Given the description of an element on the screen output the (x, y) to click on. 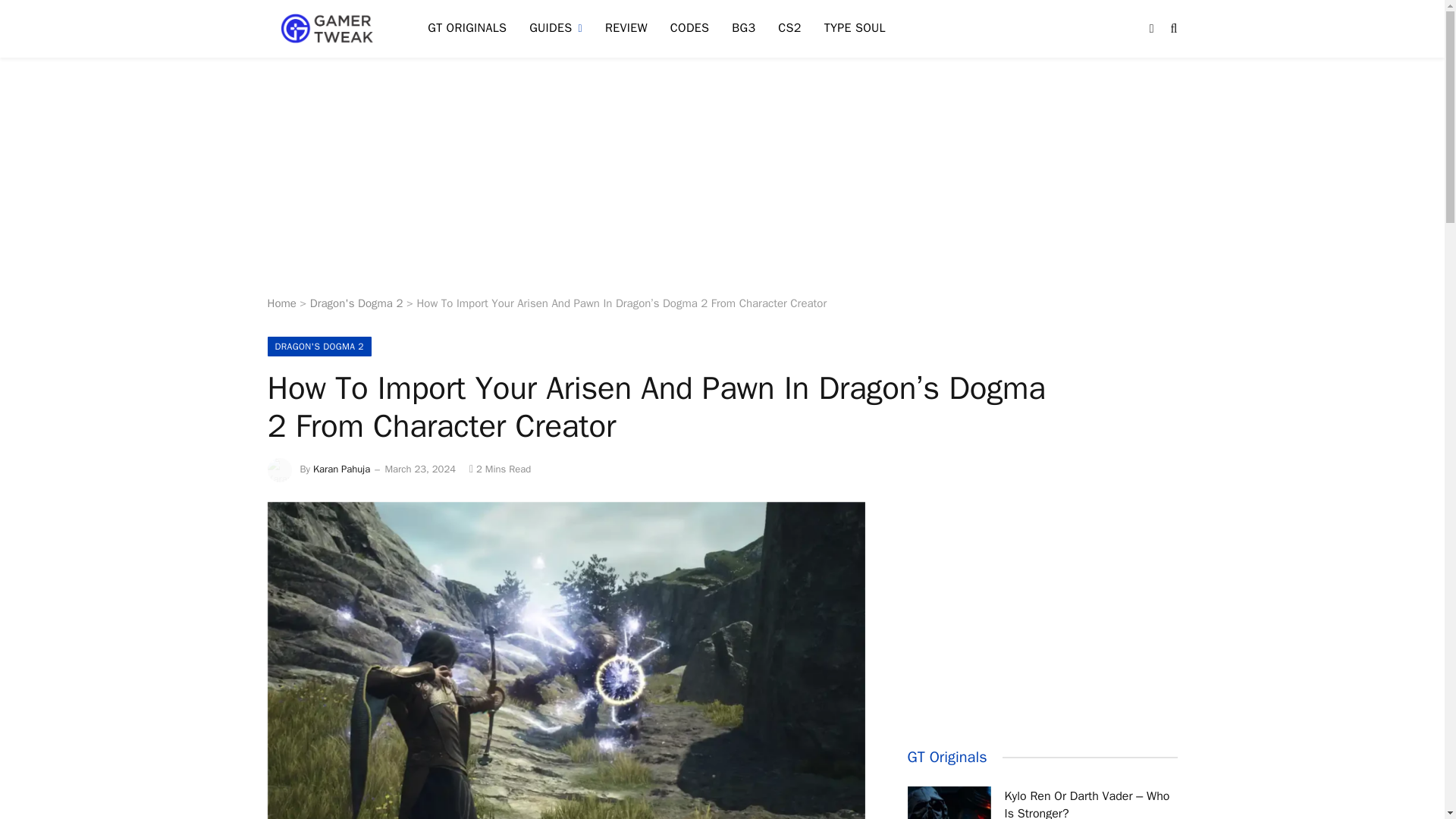
Gamer Tweak (328, 28)
CODES (689, 28)
REVIEW (626, 28)
Dragon's Dogma 2 (356, 303)
Karan Pahuja (341, 468)
Home (280, 303)
DRAGON'S DOGMA 2 (318, 346)
GT ORIGINALS (467, 28)
TYPE SOUL (854, 28)
